Given the description of an element on the screen output the (x, y) to click on. 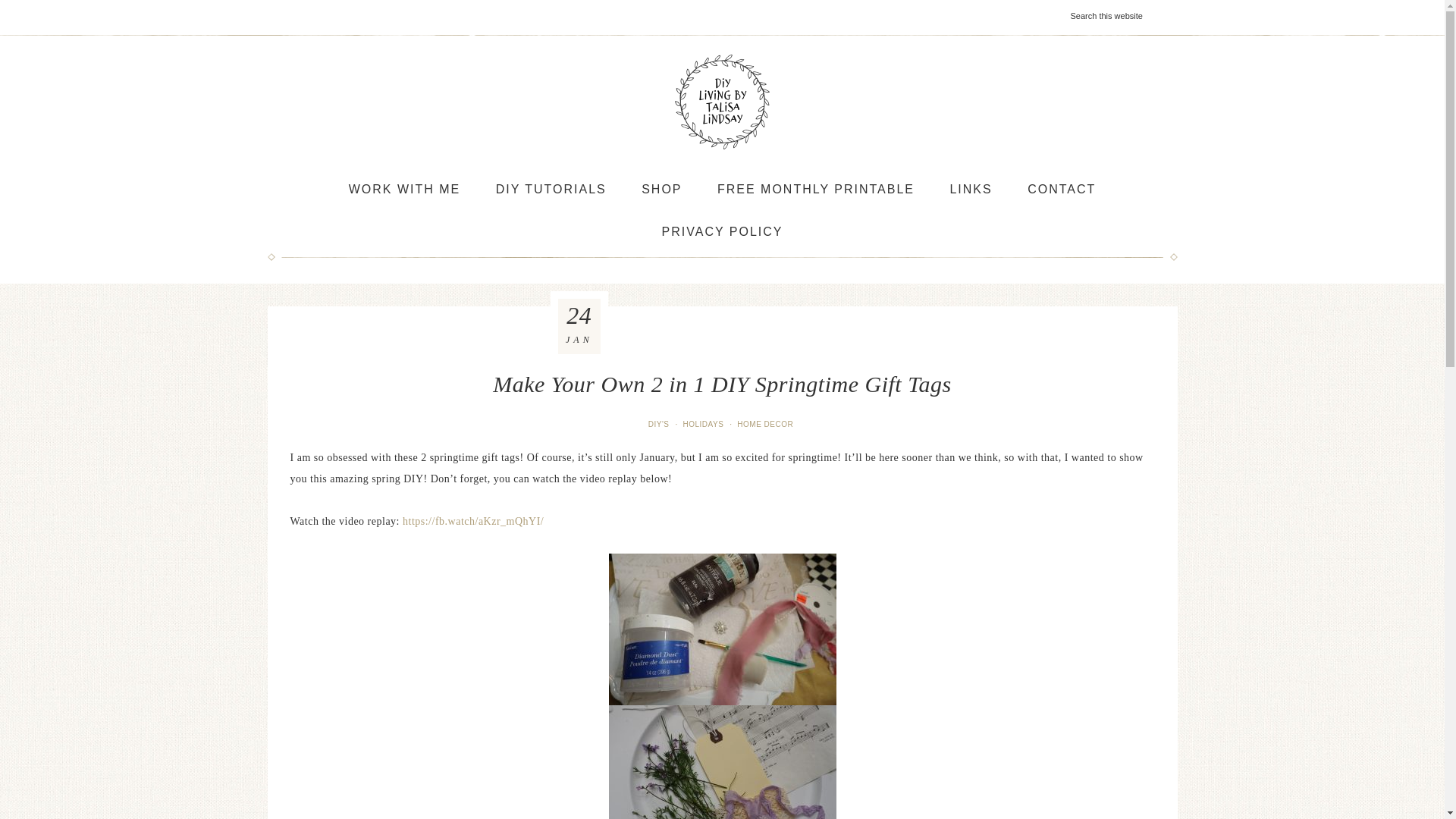
DIY'S (660, 424)
PRIVACY POLICY (721, 231)
HOME DECOR (766, 424)
HOLIDAYS (704, 424)
DIY TUTORIALS (550, 189)
SHOP (661, 189)
CONTACT (1060, 189)
LINKS (970, 189)
FREE MONTHLY PRINTABLE (815, 189)
WORK WITH ME (404, 189)
